Given the description of an element on the screen output the (x, y) to click on. 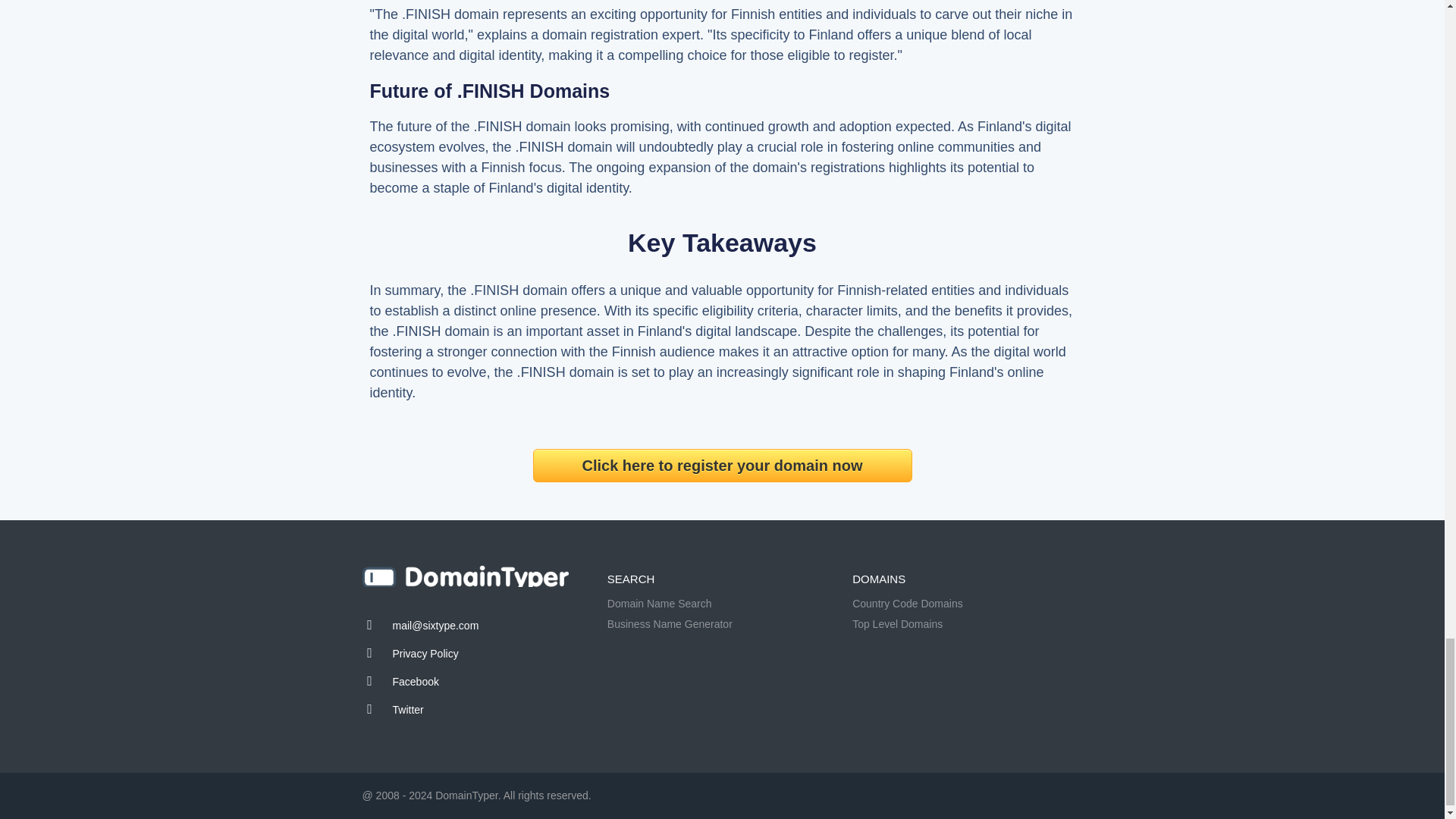
Business Name Generator (669, 623)
Top Level Domains (896, 623)
Country Code Domains (906, 603)
Domain Name Search (659, 603)
Privacy Policy (425, 653)
Click here to register your domain now (721, 465)
Twitter (408, 709)
Facebook (416, 681)
